Given the description of an element on the screen output the (x, y) to click on. 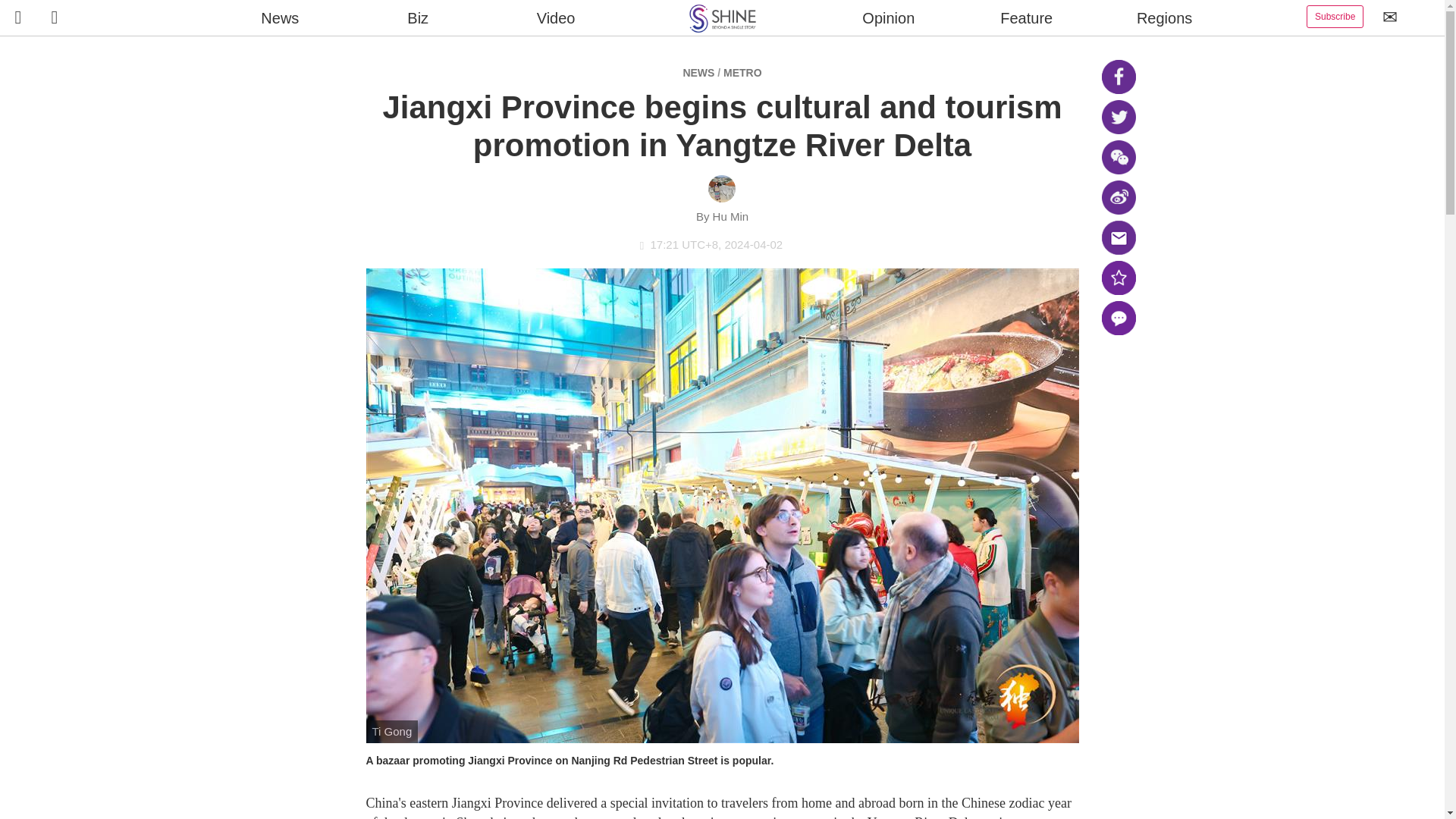
Share your comments (1117, 317)
Add to favorites (1117, 277)
Share via email (1117, 237)
NEWS (698, 72)
METRO (742, 72)
